Given the description of an element on the screen output the (x, y) to click on. 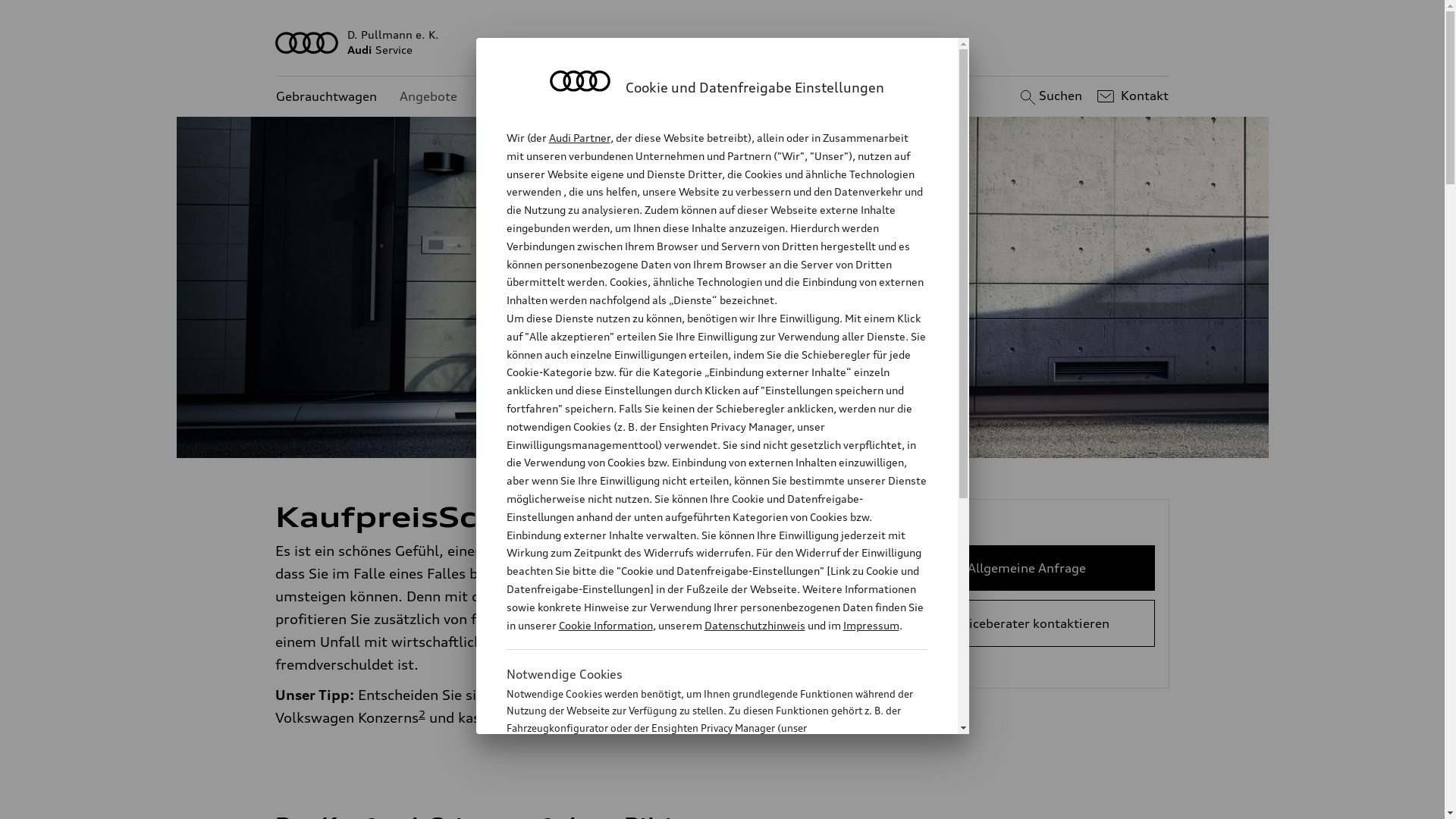
Kontakt Element type: text (1130, 96)
1 Element type: text (615, 592)
1 Element type: text (562, 509)
Cookie Information Element type: text (605, 624)
Impressum Element type: text (871, 624)
Serviceberater kontaktieren Element type: text (1025, 622)
Datenschutzhinweis Element type: text (753, 624)
Gebrauchtwagen Element type: text (326, 96)
D. Pullmann e. K.
AudiService Element type: text (722, 42)
Angebote Element type: text (428, 96)
2 Element type: text (421, 714)
Suchen Element type: text (1049, 96)
Cookie Information Element type: text (700, 802)
Allgemeine Anfrage Element type: text (1025, 567)
Kundenservice Element type: text (523, 96)
Audi Partner Element type: text (579, 137)
